Given the description of an element on the screen output the (x, y) to click on. 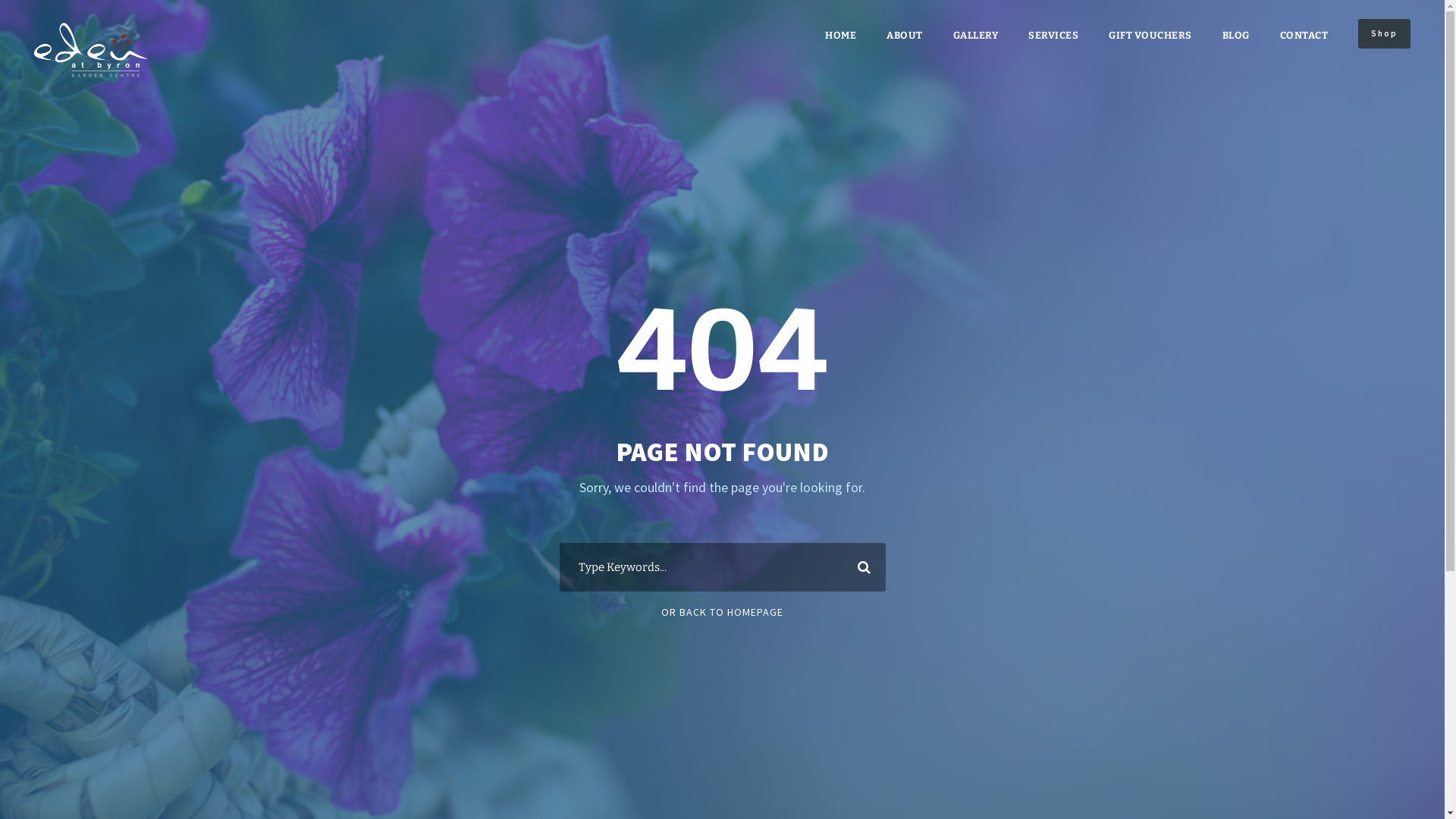
OR BACK TO HOMEPAGE Element type: text (722, 611)
HOME Element type: text (840, 48)
ABOUT Element type: text (904, 48)
SERVICES Element type: text (1053, 48)
GALLERY Element type: text (974, 48)
Search Element type: text (860, 566)
BLOG Element type: text (1235, 48)
CONTACT Element type: text (1304, 48)
GIFT VOUCHERS Element type: text (1150, 48)
Shop Element type: text (1384, 33)
Eden At Byron Logo Element type: hover (90, 50)
